Given the description of an element on the screen output the (x, y) to click on. 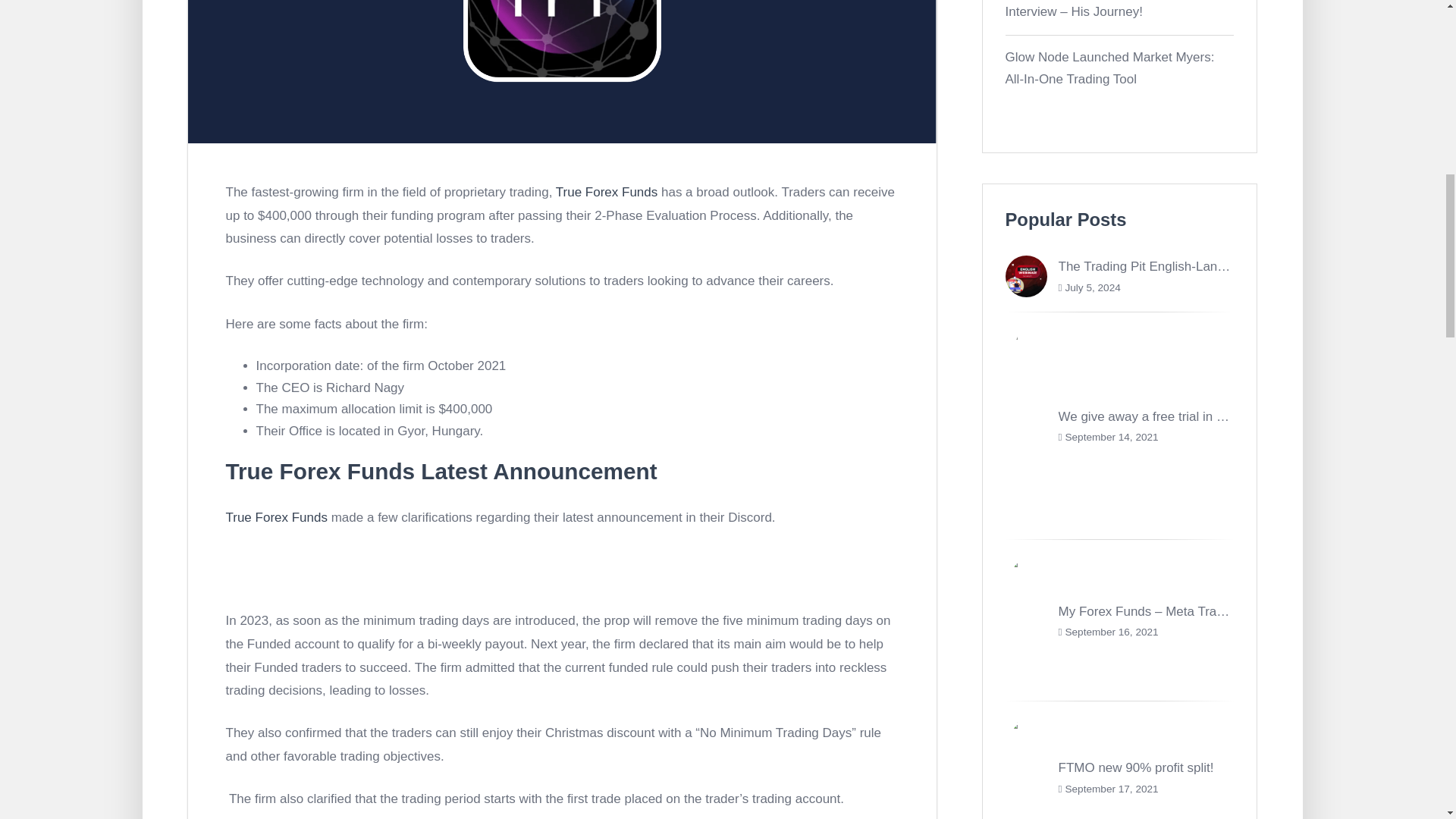
True Forex Funds (276, 517)
Glow Node Launched Market Myers: All-In-One Trading Tool (1110, 67)
True Forex Funds (607, 192)
